Given the description of an element on the screen output the (x, y) to click on. 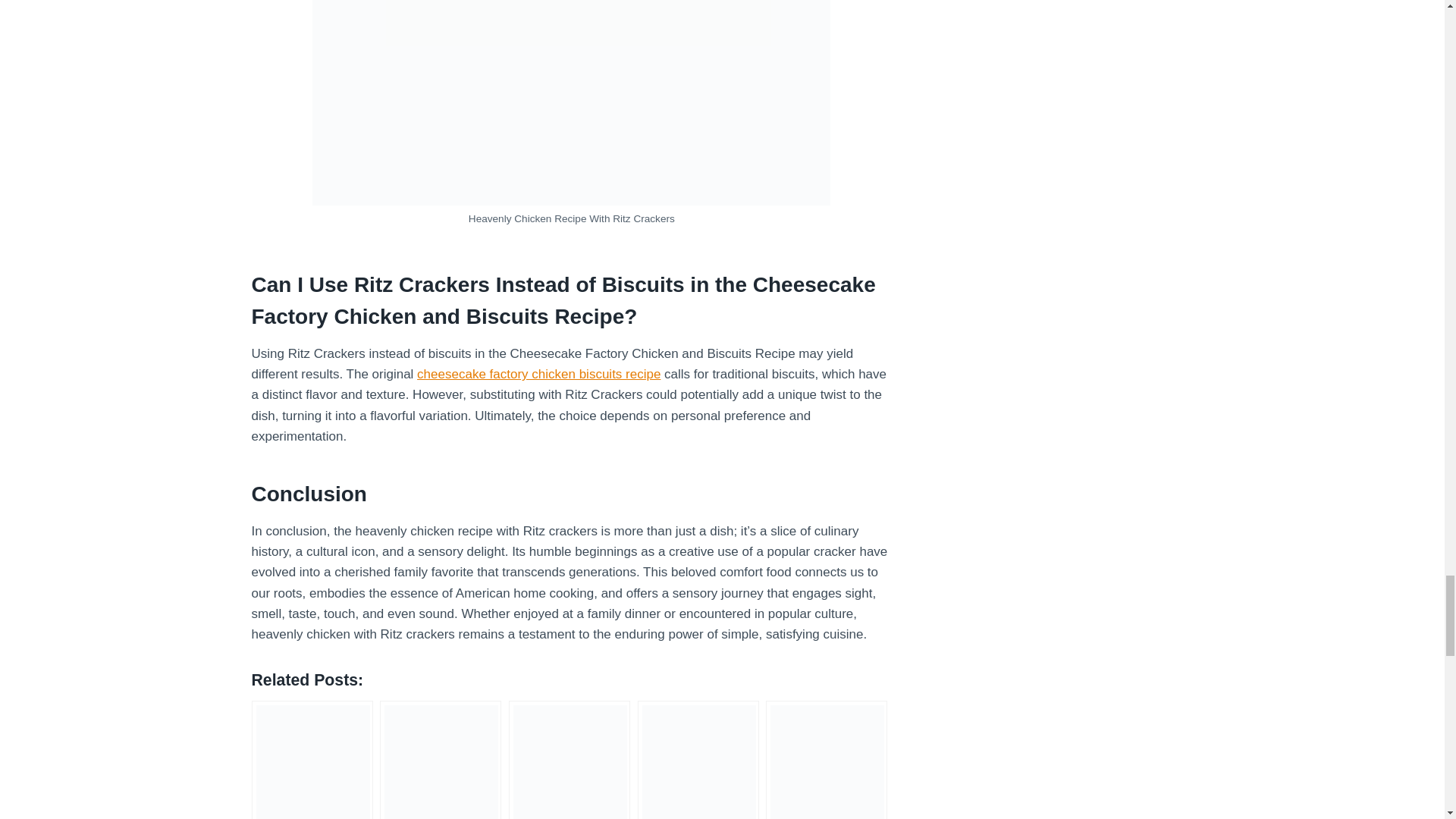
Chicken and Shrimp Pineapple Bowl Recipe 5 (312, 762)
Heavenly Chicken Recipe With Ritz Crackers 4 (571, 102)
cheesecake factory chicken biscuits recipe (538, 373)
Chicken and Shrimp Pineapple Bowl Recipe (311, 760)
Cava Harissa Honey Chicken Recipe (569, 760)
Can Cooker Chicken Recipes (440, 760)
Can Cooker Chicken Recipes (440, 760)
Cheesecake Factory Chicken And Biscuits Recipe (697, 760)
Chicken and Shrimp Pineapple Bowl Recipe (311, 760)
Cracker Barrel Recipes Chicken And Rice (825, 760)
